Given the description of an element on the screen output the (x, y) to click on. 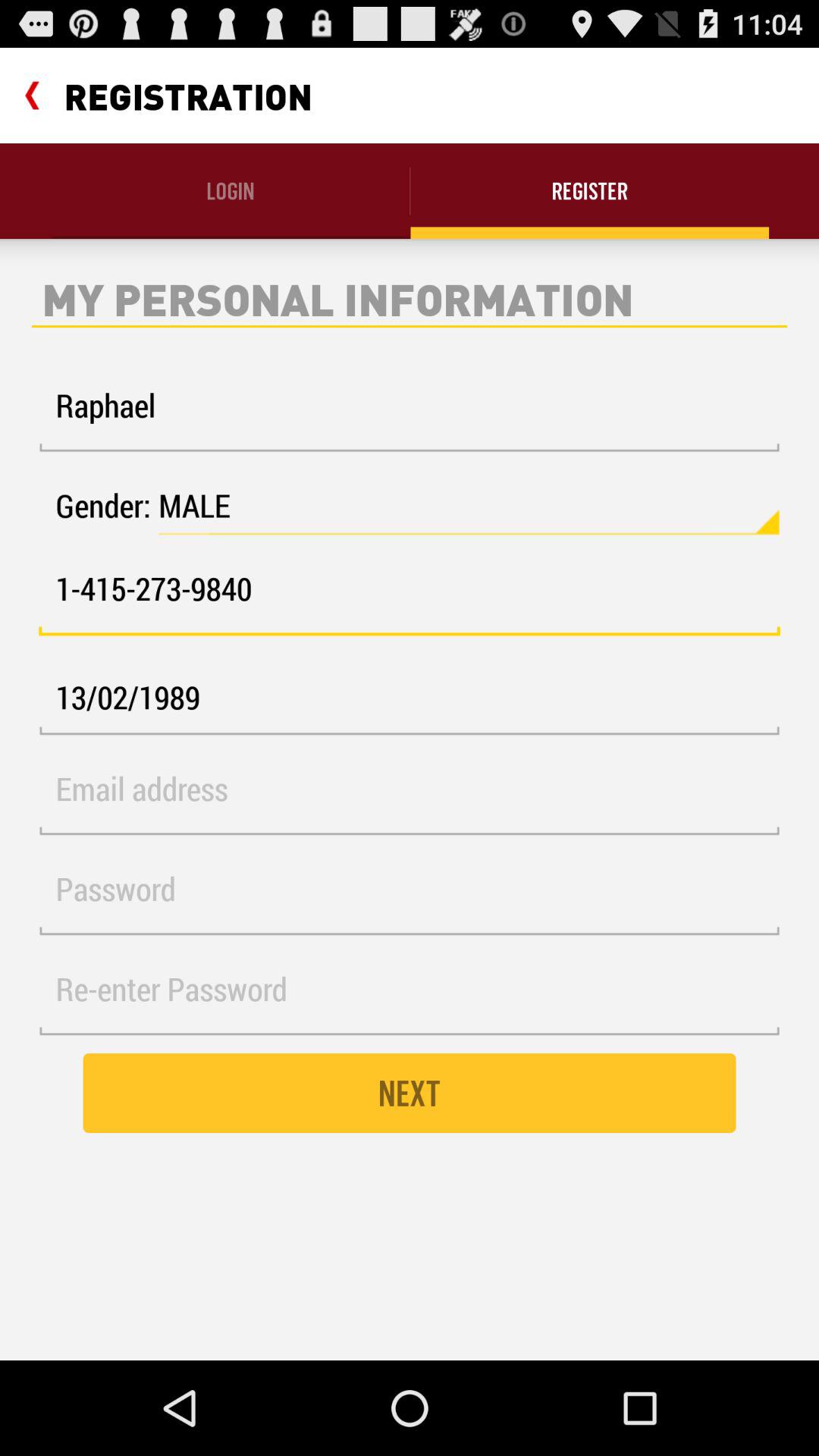
open the item below raphael (468, 505)
